Given the description of an element on the screen output the (x, y) to click on. 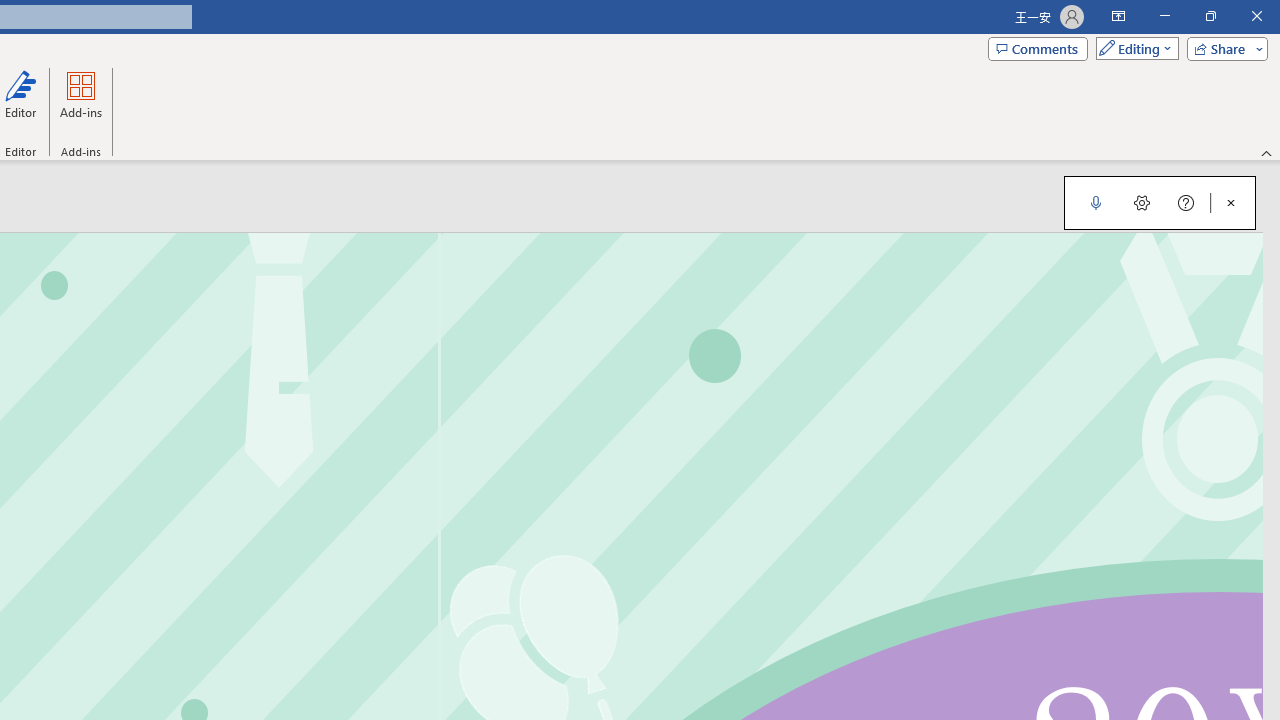
Dictation Settings (1142, 202)
Start Dictation (1096, 202)
